Given the description of an element on the screen output the (x, y) to click on. 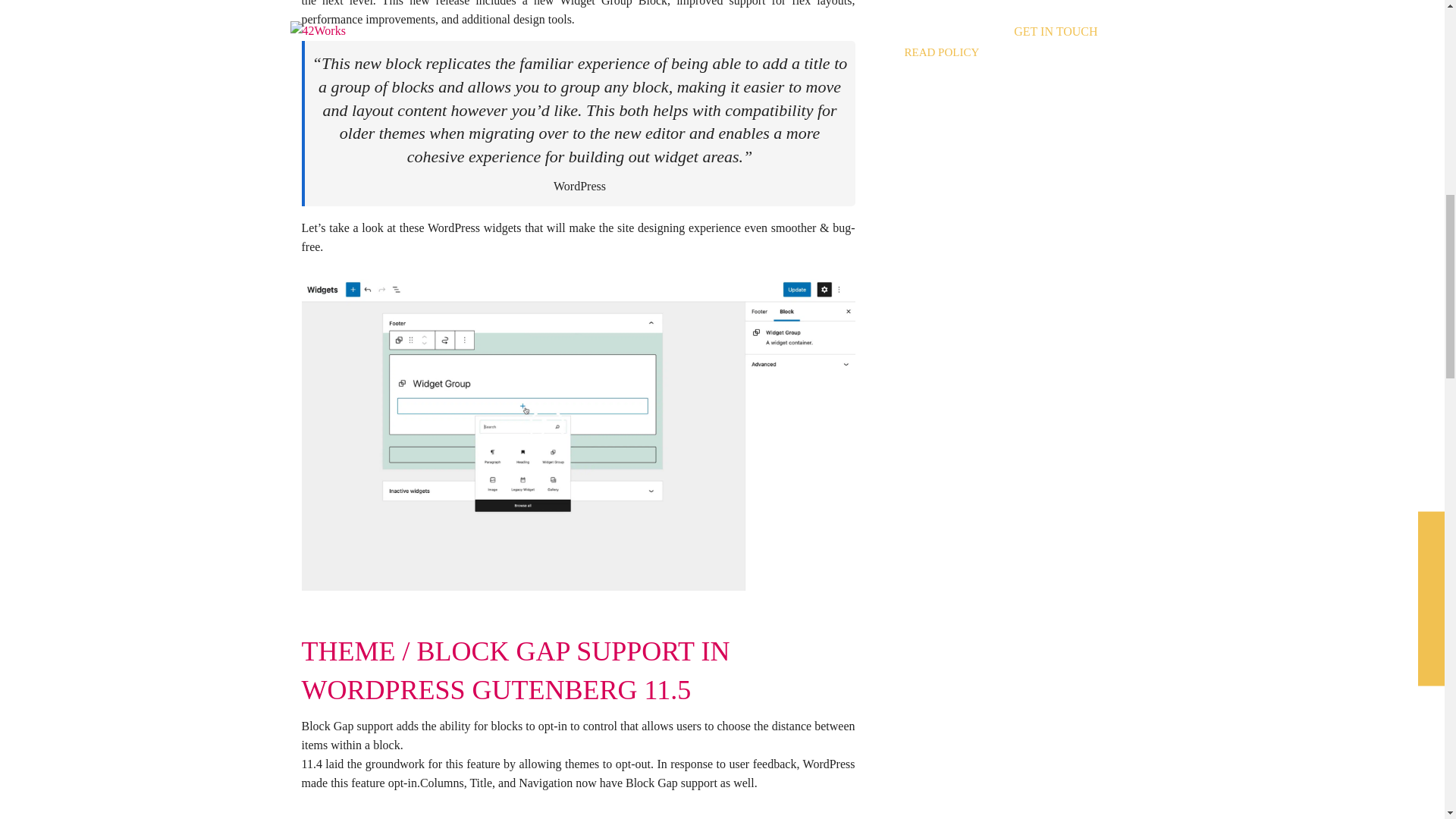
READ POLICY (941, 51)
